Given the description of an element on the screen output the (x, y) to click on. 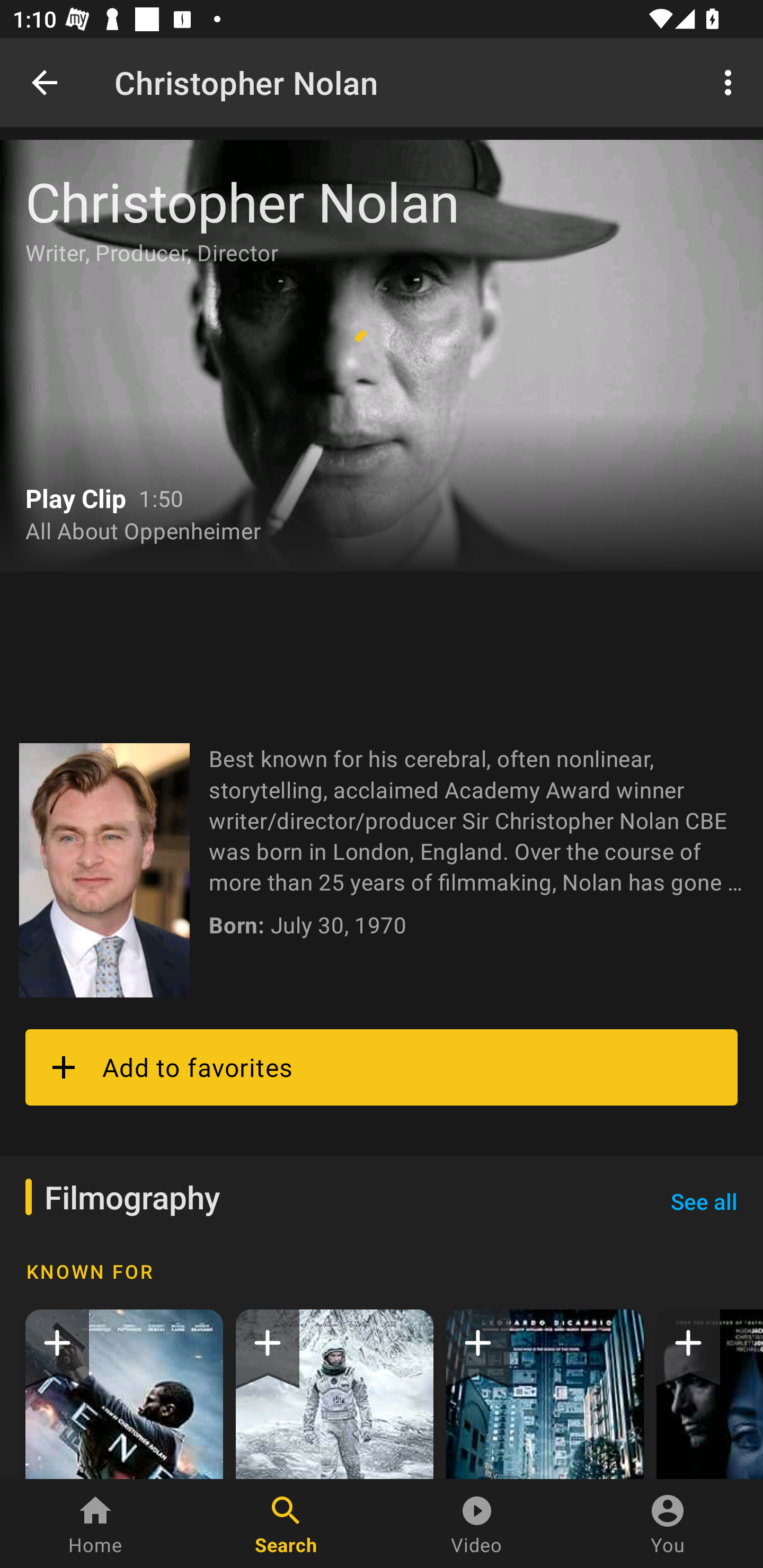
More options (731, 81)
toggle controls (381, 354)
Add to favorites (381, 1066)
See all See all  (703, 1201)
Home (95, 1523)
Video (476, 1523)
You (667, 1523)
